Given the description of an element on the screen output the (x, y) to click on. 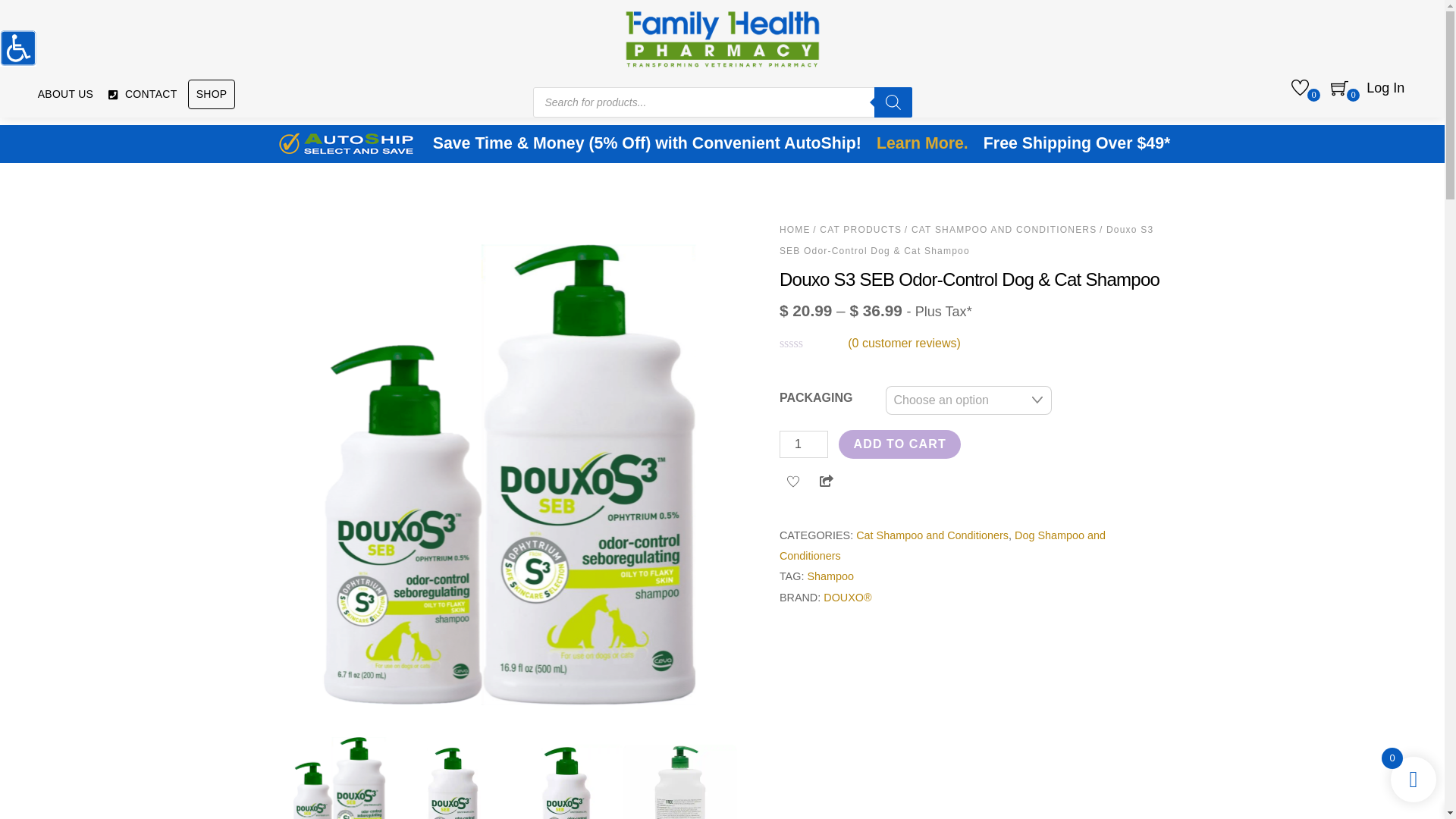
CAT PRODUCTS (860, 229)
Shampoo (829, 576)
Douxo-S3-Seb-Shampoo-for-Dogs-and-Cats-6.7oz-600x1028 (566, 781)
Douxo-S3-Seb-Shampoo-for-Dogs-and-Cats-16.9oz-600x1008 (452, 781)
HOME (794, 229)
Log In (1384, 88)
ADD TO CART (899, 443)
Dog Shampoo and Conditioners (941, 545)
Douxo S3 Seb Shampoo for Dogs and Cats 6.7oz 16.9oz (339, 775)
ABOUT US (65, 94)
